Given the description of an element on the screen output the (x, y) to click on. 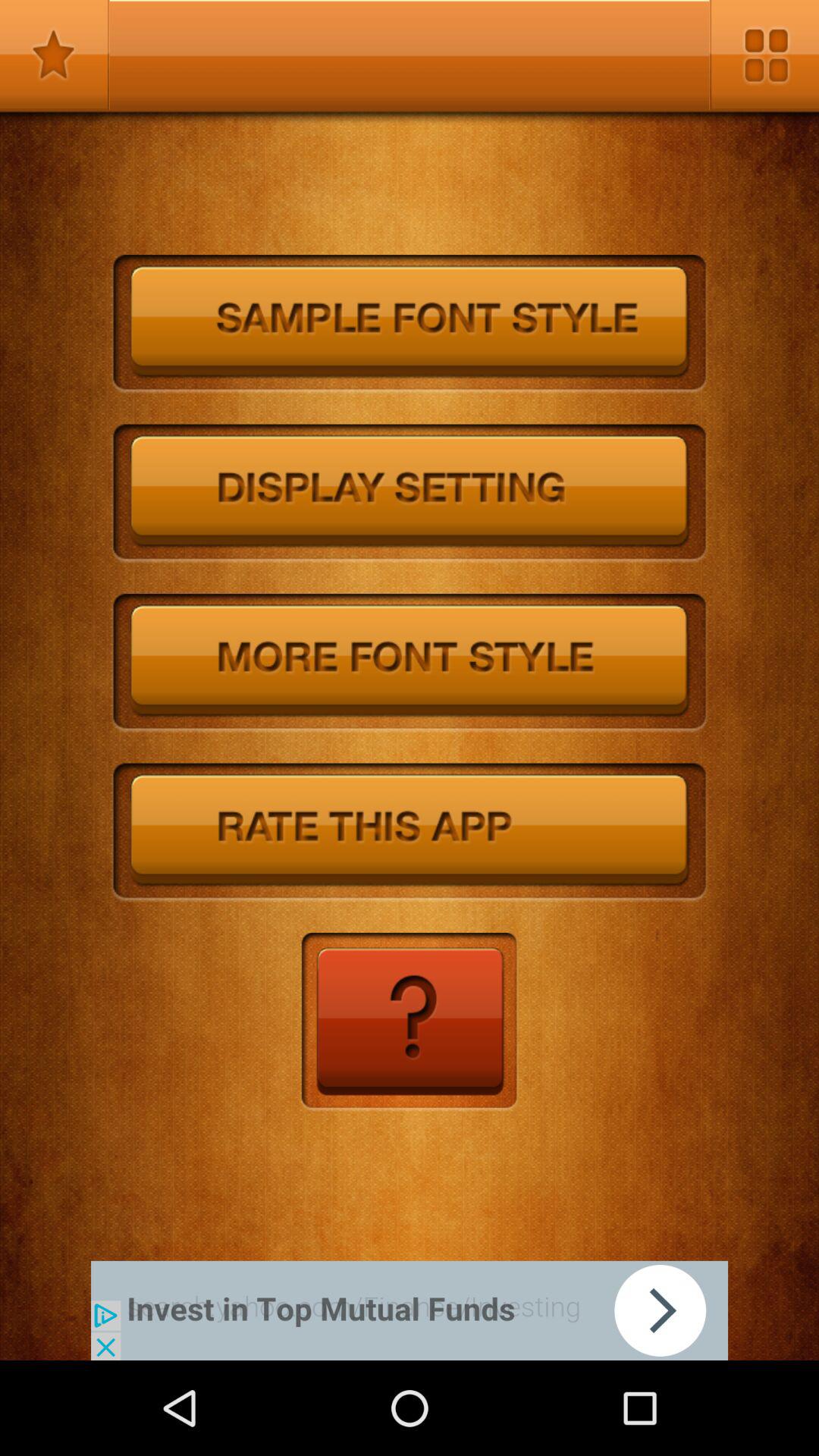
go to advertisement (409, 1310)
